Given the description of an element on the screen output the (x, y) to click on. 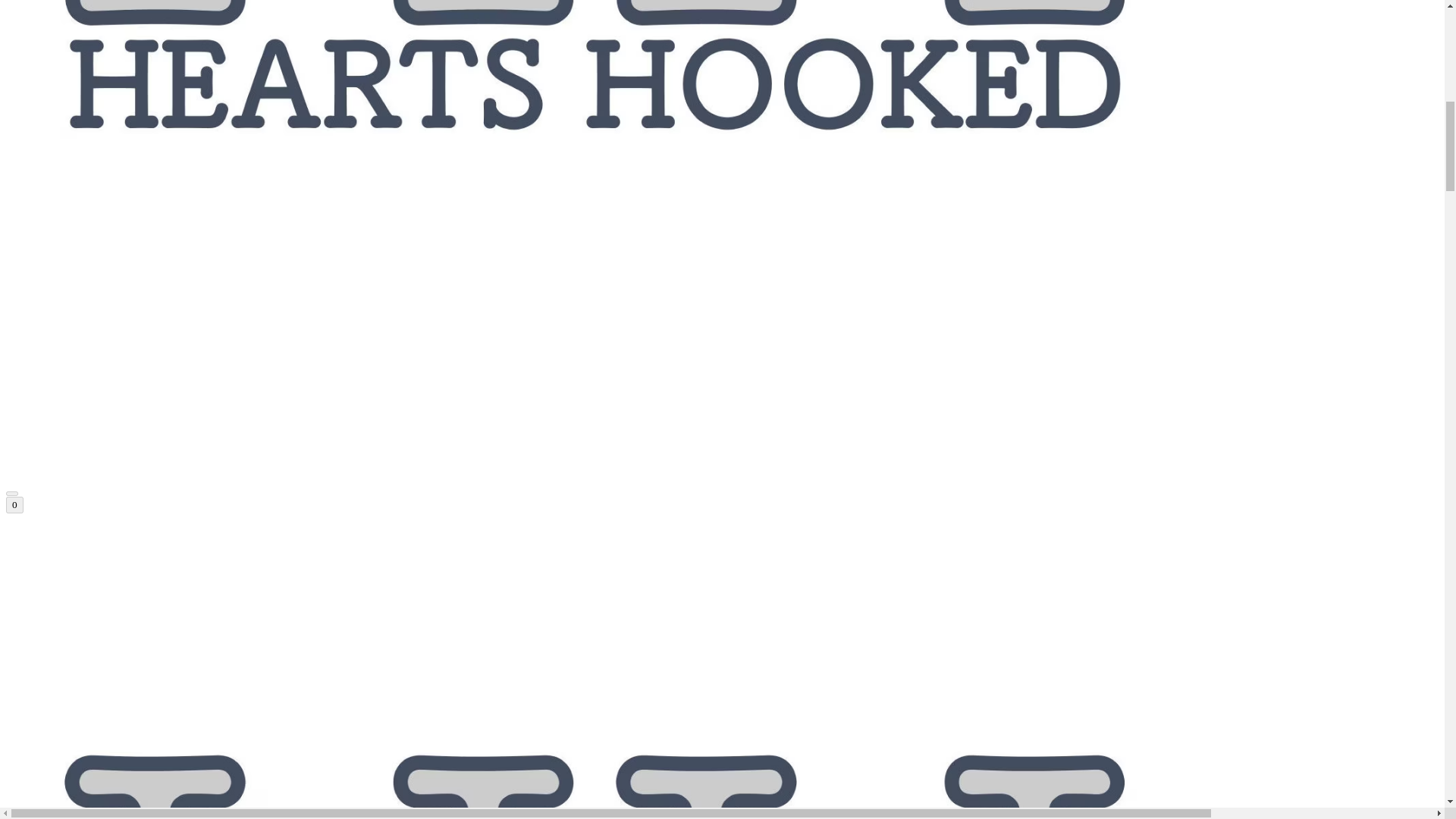
0 (14, 504)
